Given the description of an element on the screen output the (x, y) to click on. 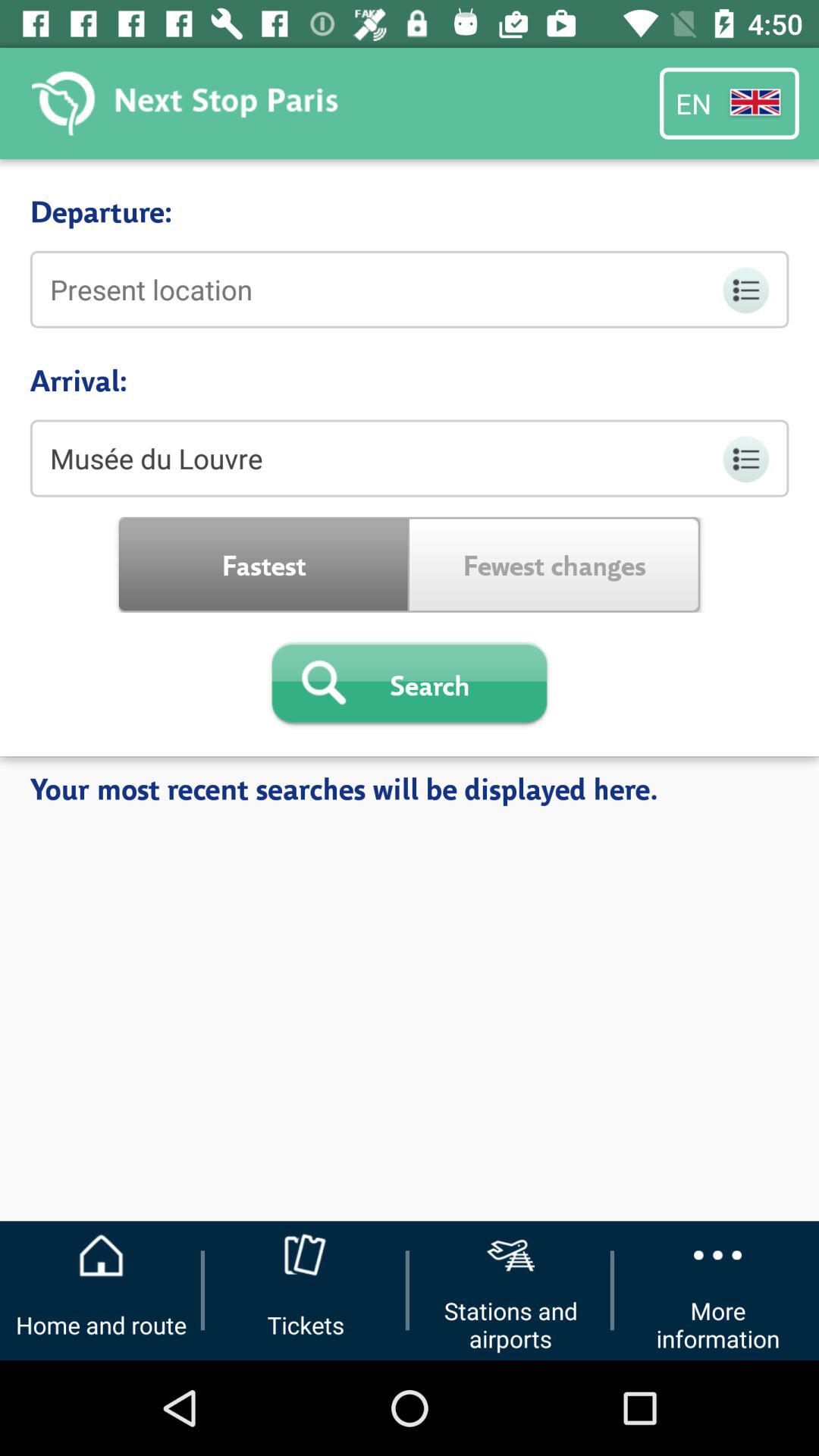
tap fewest changes item (554, 564)
